Given the description of an element on the screen output the (x, y) to click on. 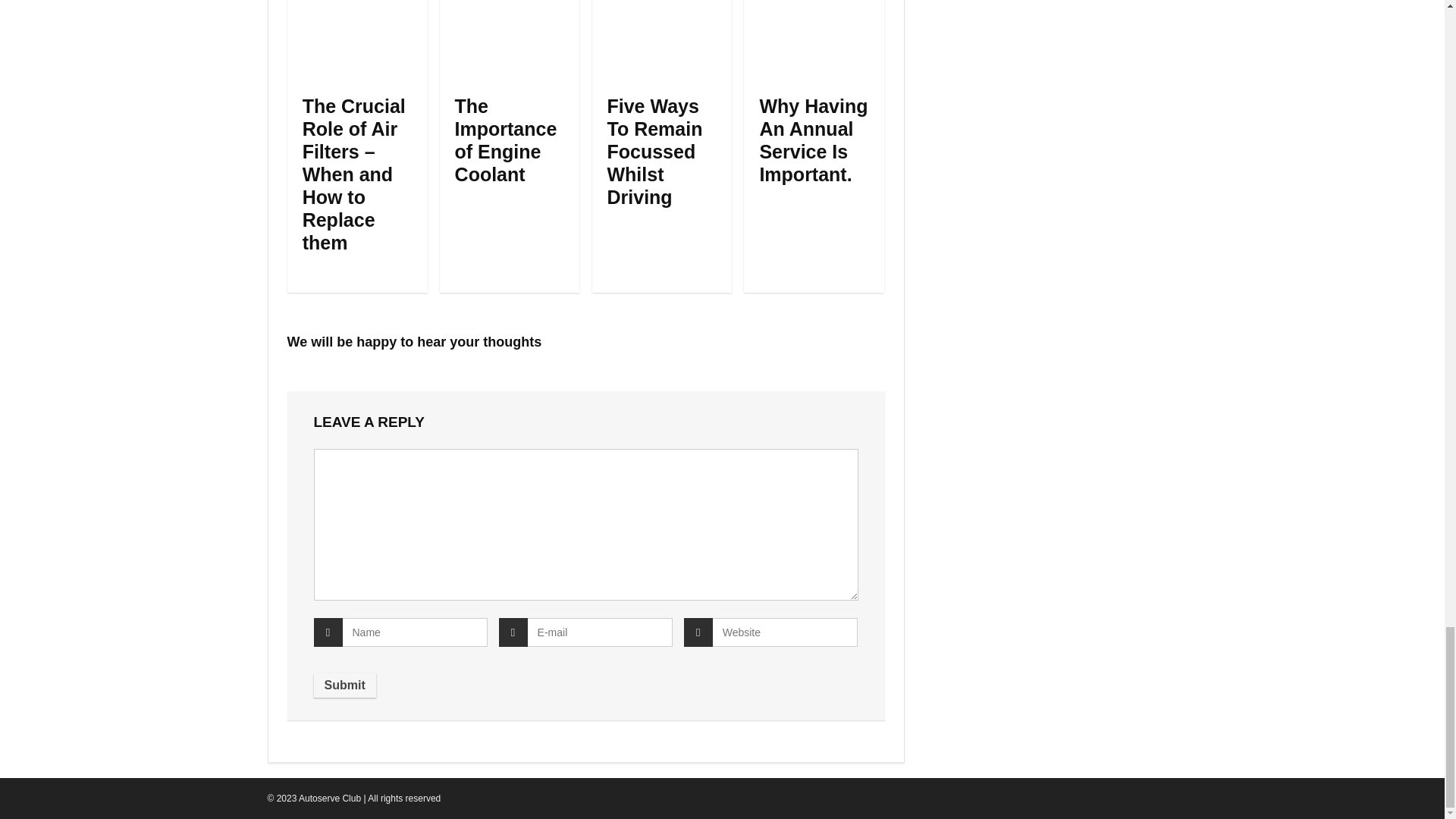
Submit (344, 685)
Submit (344, 685)
The Importance of Engine Coolant (505, 140)
Why Having An Annual Service Is Important. (812, 140)
